Given the description of an element on the screen output the (x, y) to click on. 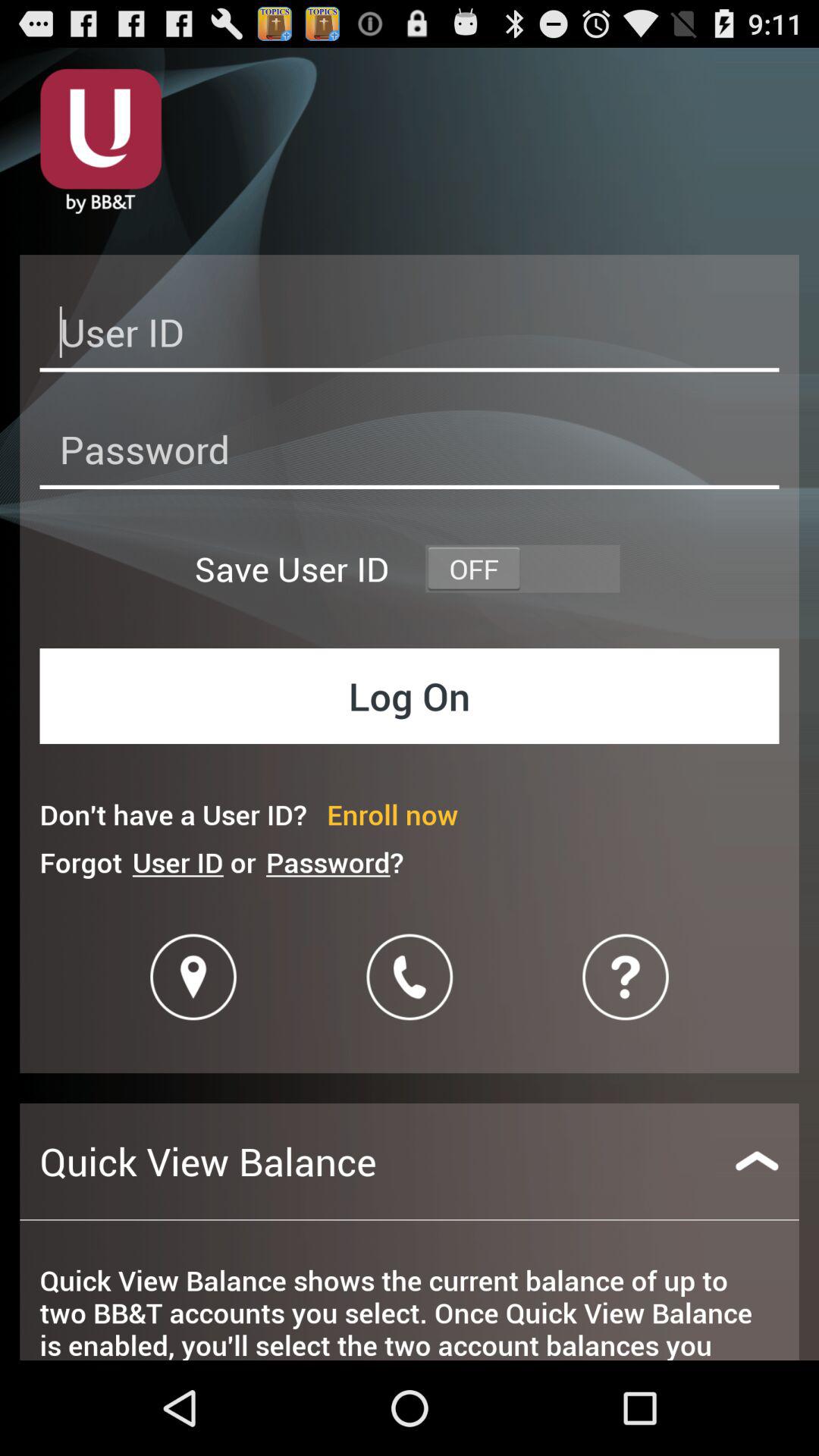
open password? item (334, 861)
